Given the description of an element on the screen output the (x, y) to click on. 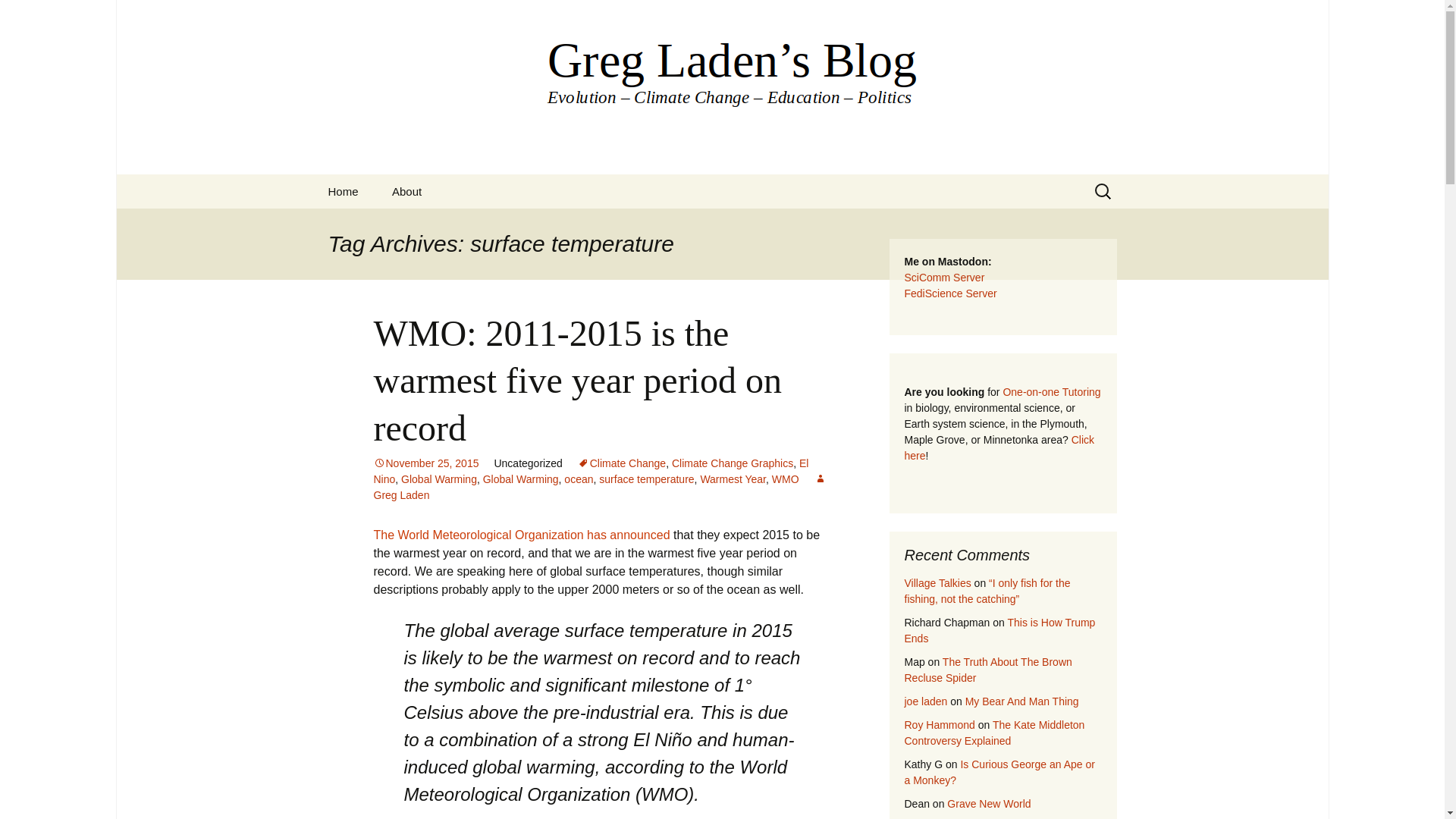
FediScience Server (949, 293)
Climate Change (621, 463)
WMO: 2011-2015 is the warmest five year period on record (576, 379)
One-on-one Tutoring (1051, 391)
Global Warming (439, 479)
Climate Change Graphics (732, 463)
Home (342, 191)
Search (18, 15)
surface temperature (646, 479)
